Given the description of an element on the screen output the (x, y) to click on. 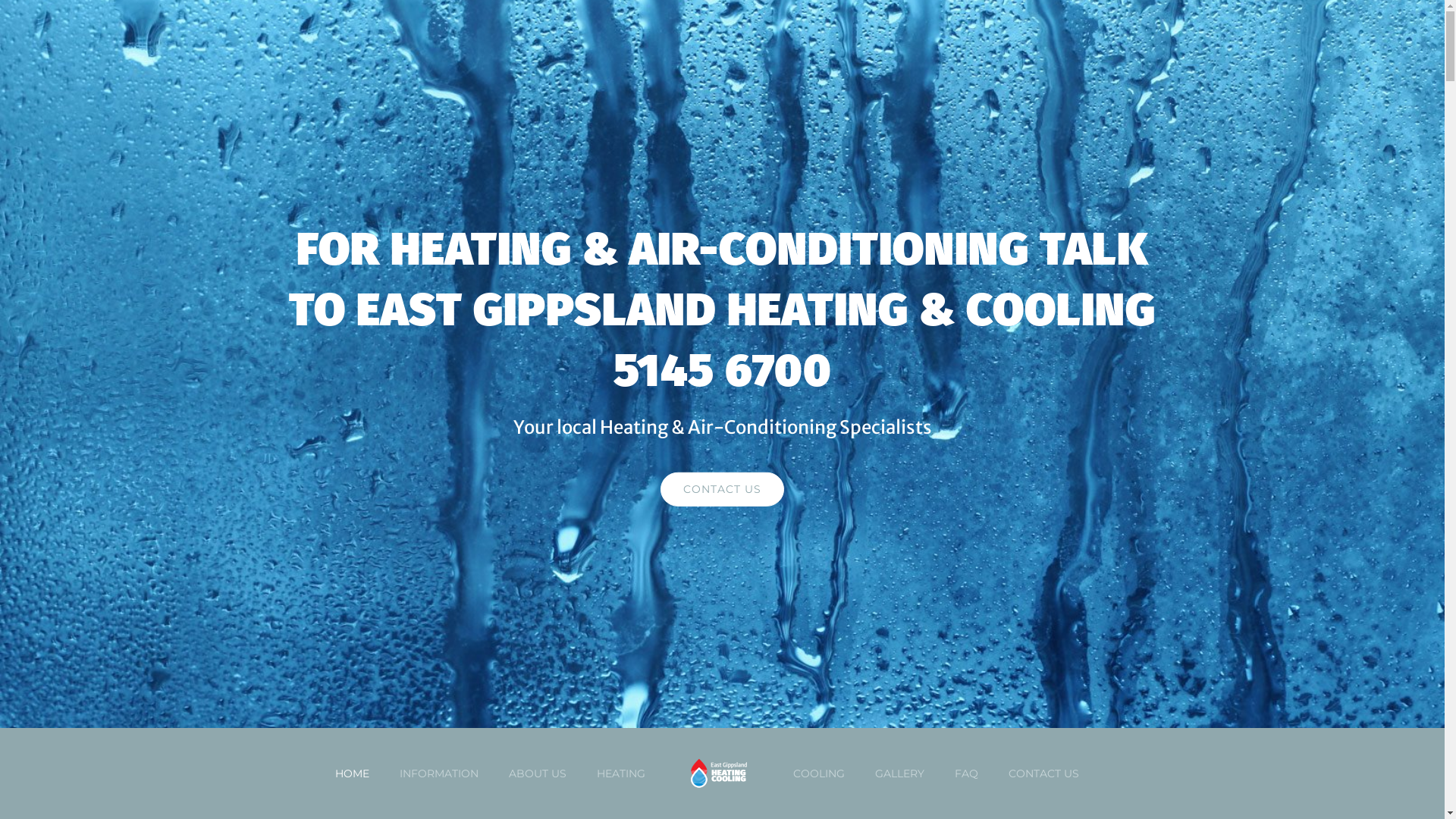
CONTACT US Element type: text (722, 489)
